Given the description of an element on the screen output the (x, y) to click on. 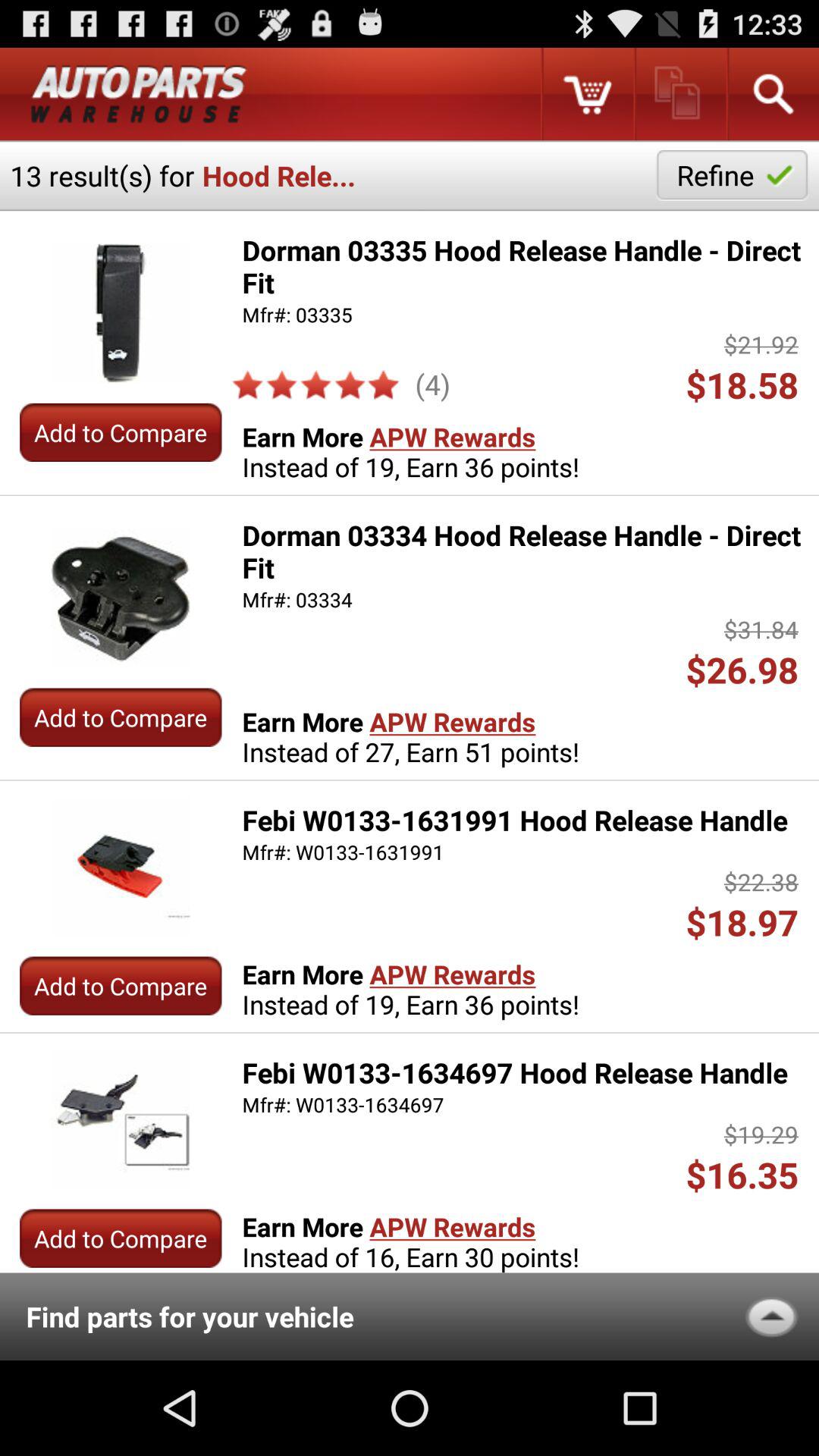
go to shopping cart (586, 93)
